Given the description of an element on the screen output the (x, y) to click on. 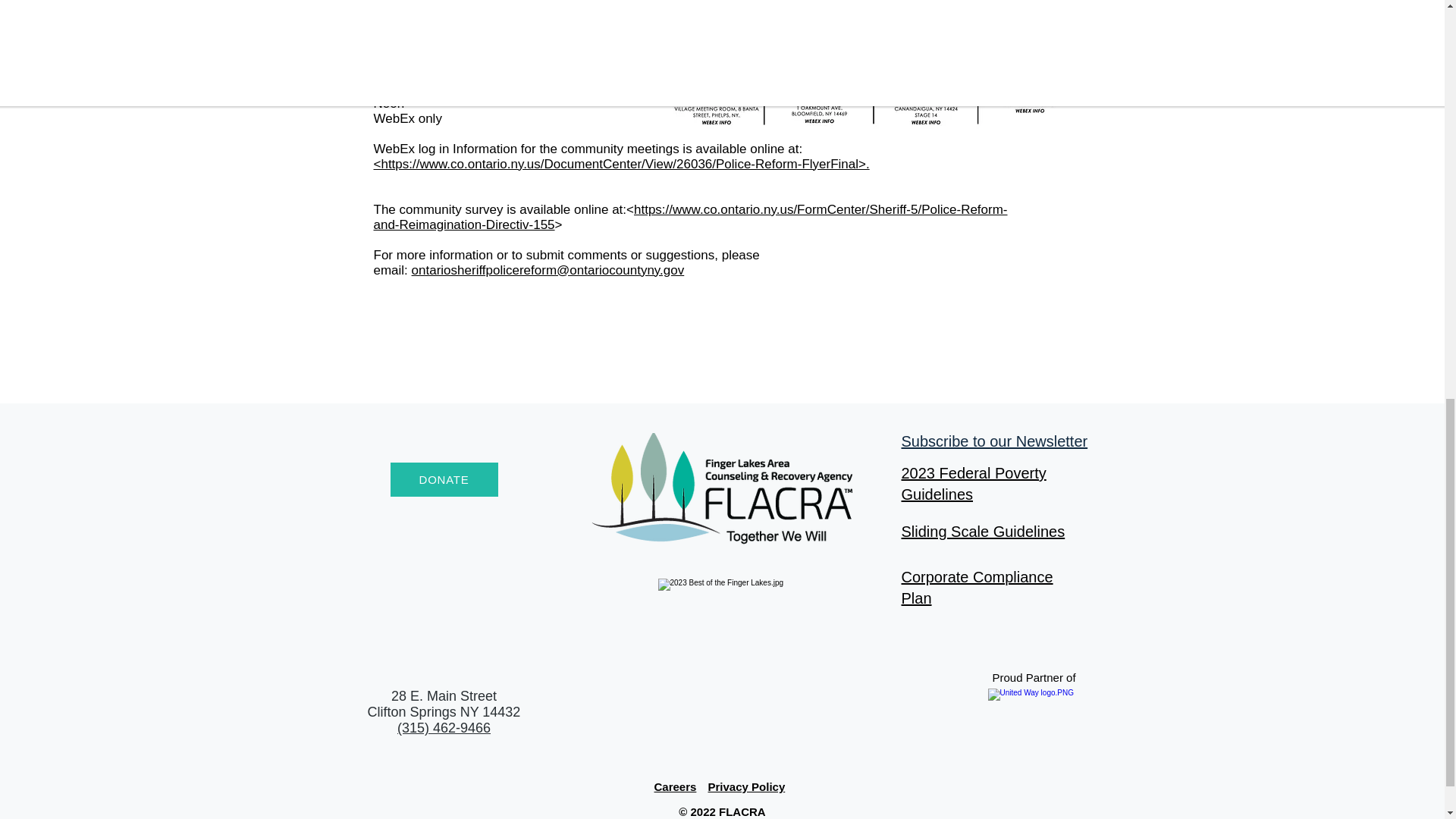
DONATE (443, 479)
